Given the description of an element on the screen output the (x, y) to click on. 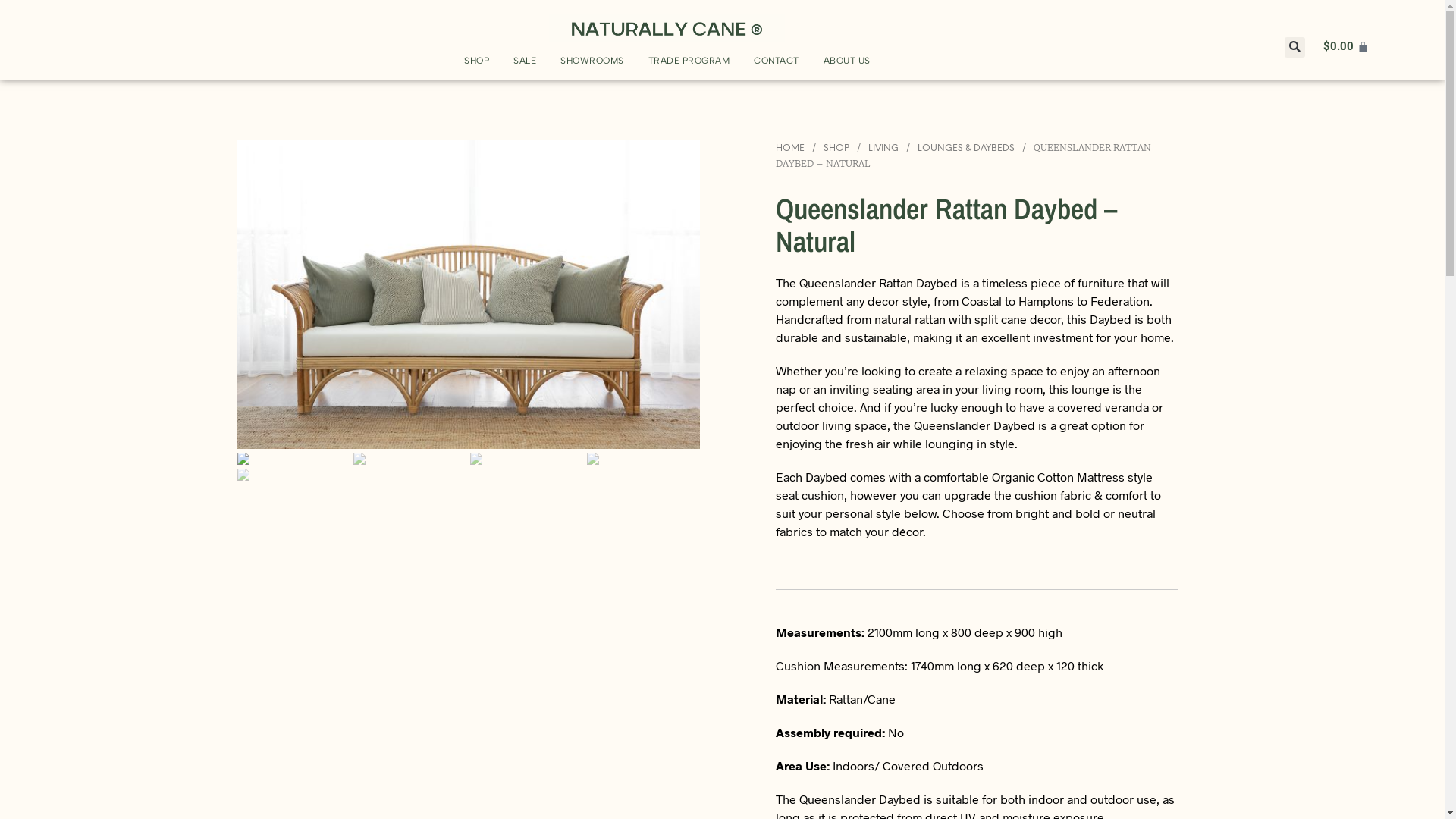
SHOWROOMS Element type: text (592, 60)
ABOUT US Element type: text (846, 60)
LIVING Element type: text (882, 148)
CONTACT Element type: text (776, 60)
LOUNGES & DAYBEDS Element type: text (965, 148)
SALE Element type: text (524, 60)
SHOP Element type: text (836, 148)
$0.00 Element type: text (1345, 46)
Queenslander daybed Nat CHB Element type: hover (467, 294)
SHOP Element type: text (476, 60)
HOME Element type: text (789, 148)
TRADE PROGRAM Element type: text (689, 60)
